Given the description of an element on the screen output the (x, y) to click on. 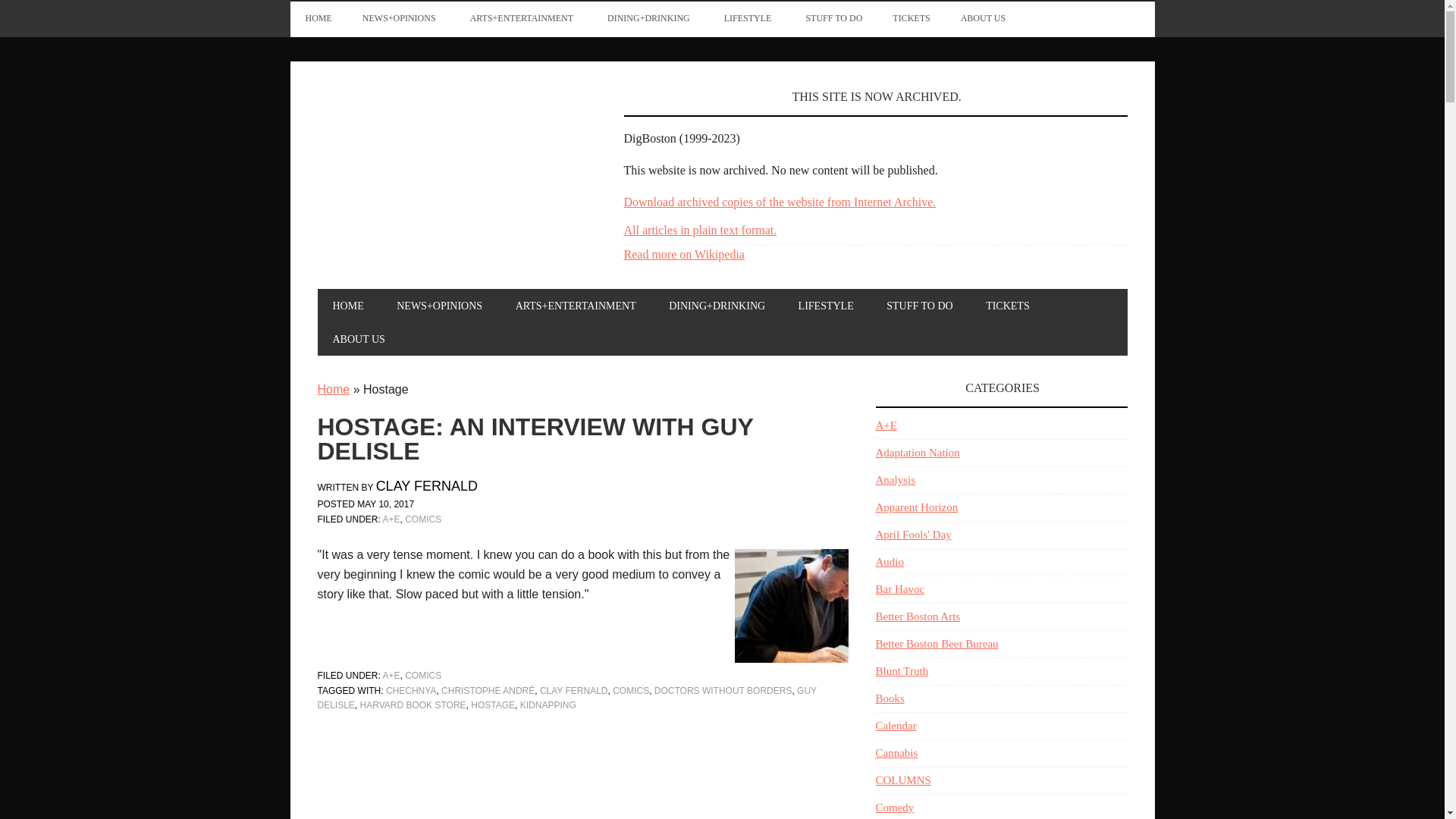
Read more on Wikipedia (683, 254)
All articles in plain text format. (699, 229)
LIFESTYLE (749, 18)
TICKETS (910, 18)
HOME (347, 305)
STUFF TO DO (833, 18)
HOME (317, 18)
